Given the description of an element on the screen output the (x, y) to click on. 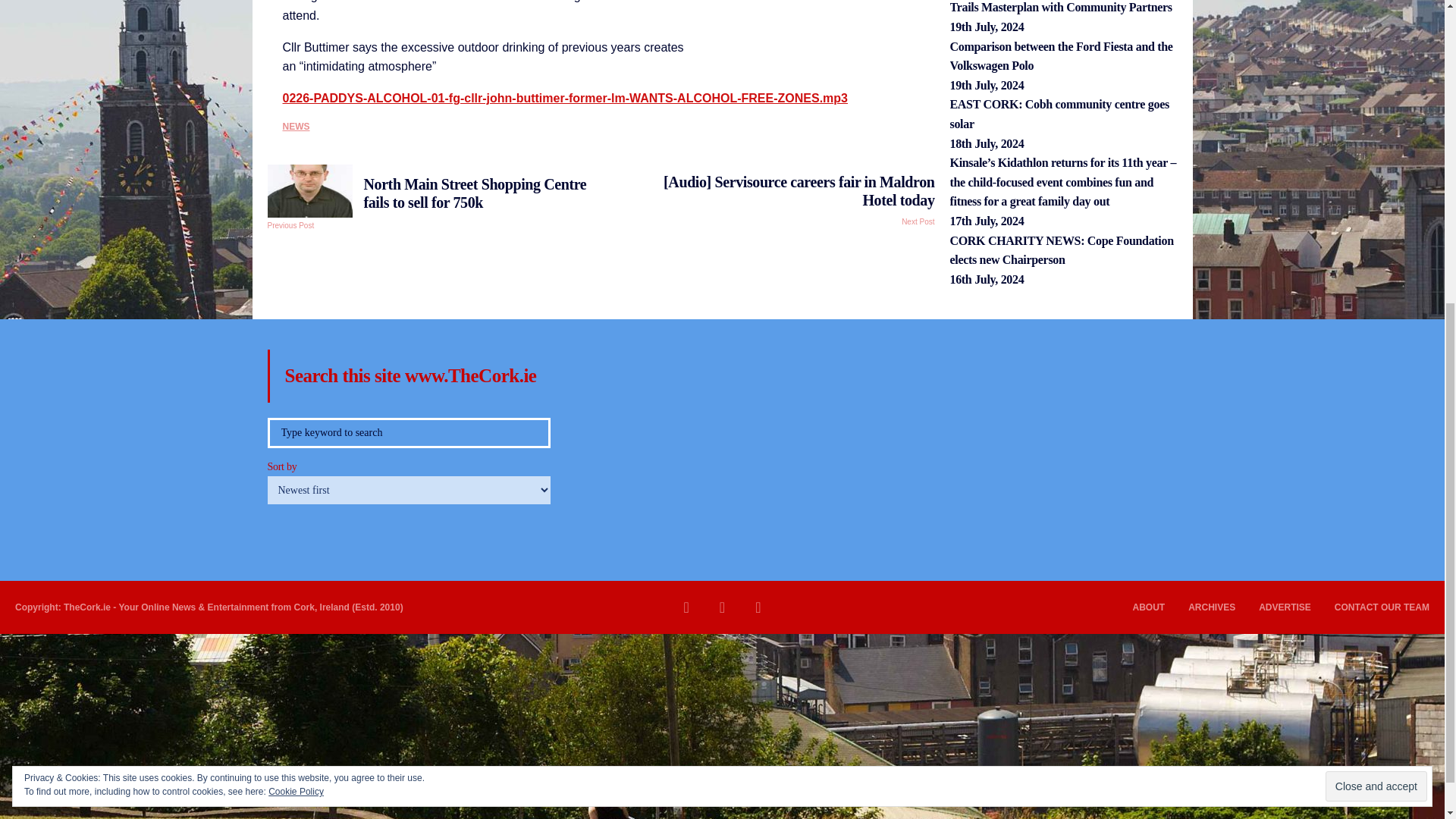
Type keyword to search (408, 432)
Close and accept (1375, 286)
Type keyword to search (408, 432)
